Given the description of an element on the screen output the (x, y) to click on. 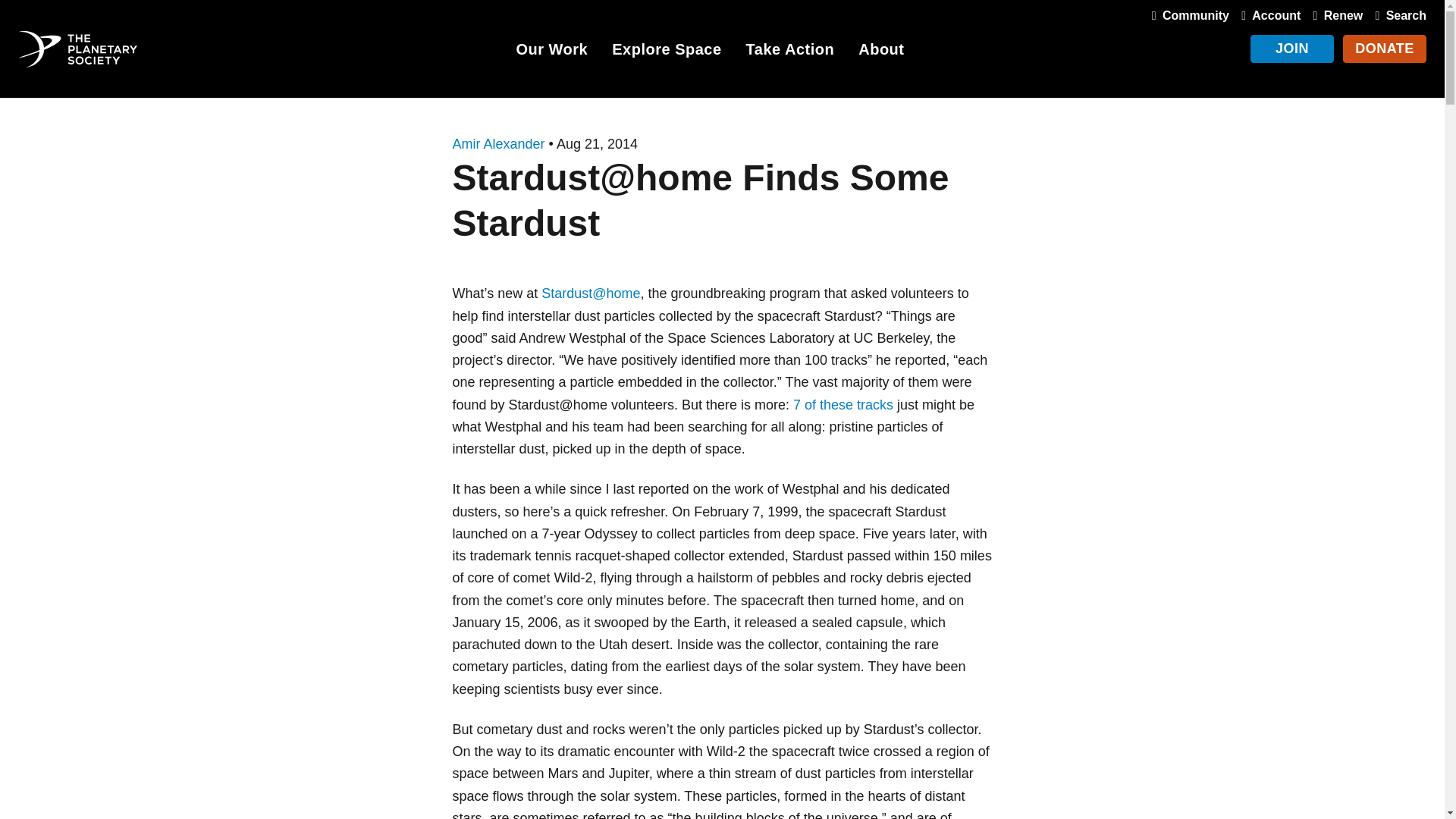
Account (1267, 15)
Our Work (551, 51)
Take Action (789, 51)
About (881, 51)
Community (1186, 15)
Renew (1334, 15)
JOIN (1291, 49)
Search (1397, 15)
Explore Space (665, 51)
DONATE (1384, 49)
